Given the description of an element on the screen output the (x, y) to click on. 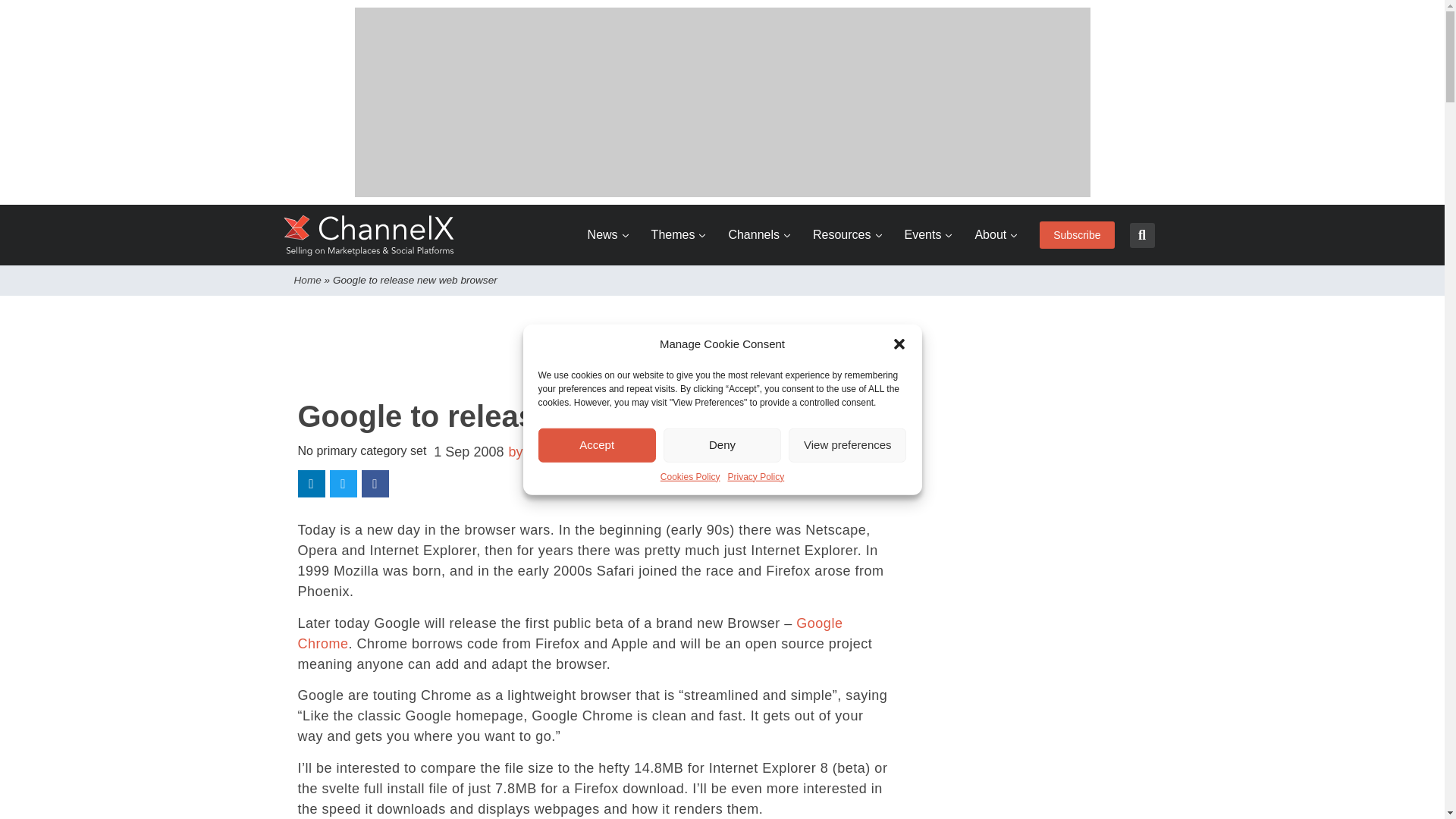
News (607, 234)
Accept (597, 444)
Deny (721, 444)
View preferences (847, 444)
Cookies Policy (690, 476)
Channels (758, 234)
Privacy Policy (756, 476)
ChannelX Home Page (369, 234)
Themes (678, 234)
